Given the description of an element on the screen output the (x, y) to click on. 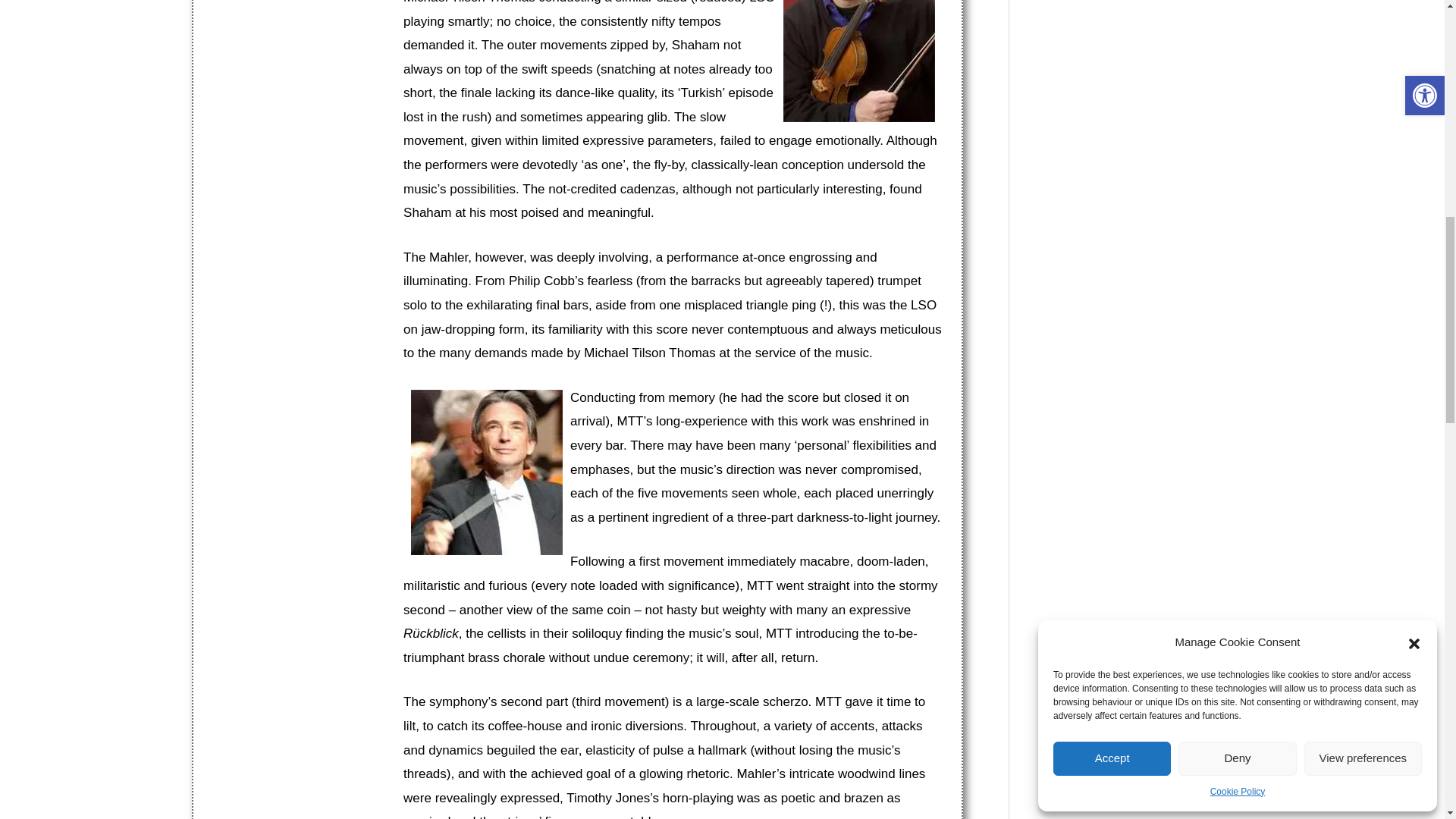
Gil Shaham. Photograph: Christian Steiner (858, 61)
Michael Tilson Thomas (486, 472)
